Given the description of an element on the screen output the (x, y) to click on. 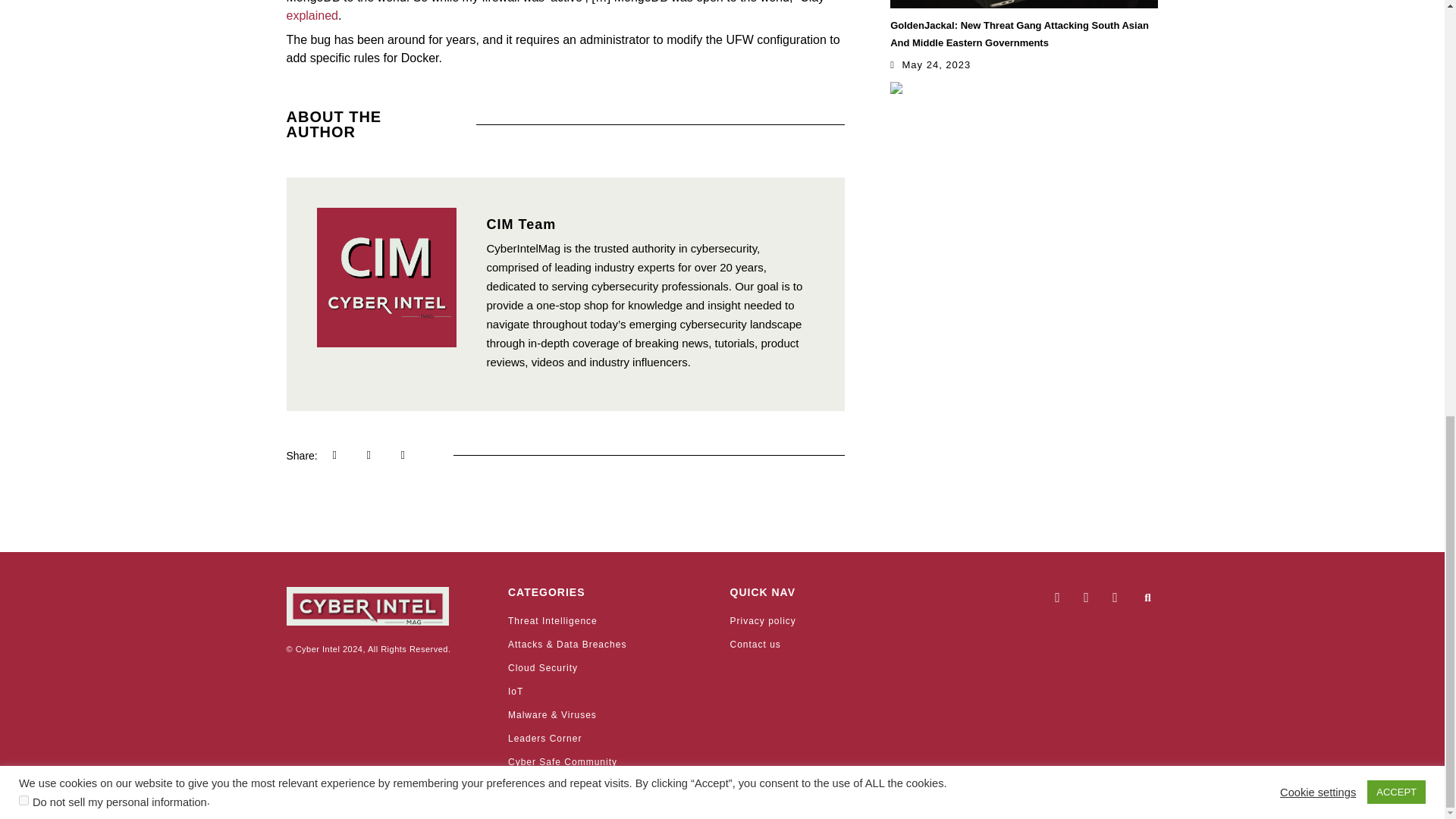
Threat Intelligence (611, 620)
Leaders Corner (611, 738)
Cloud Security (611, 667)
explained (312, 15)
IoT (611, 691)
Cyber Safe Community (611, 761)
